Given the description of an element on the screen output the (x, y) to click on. 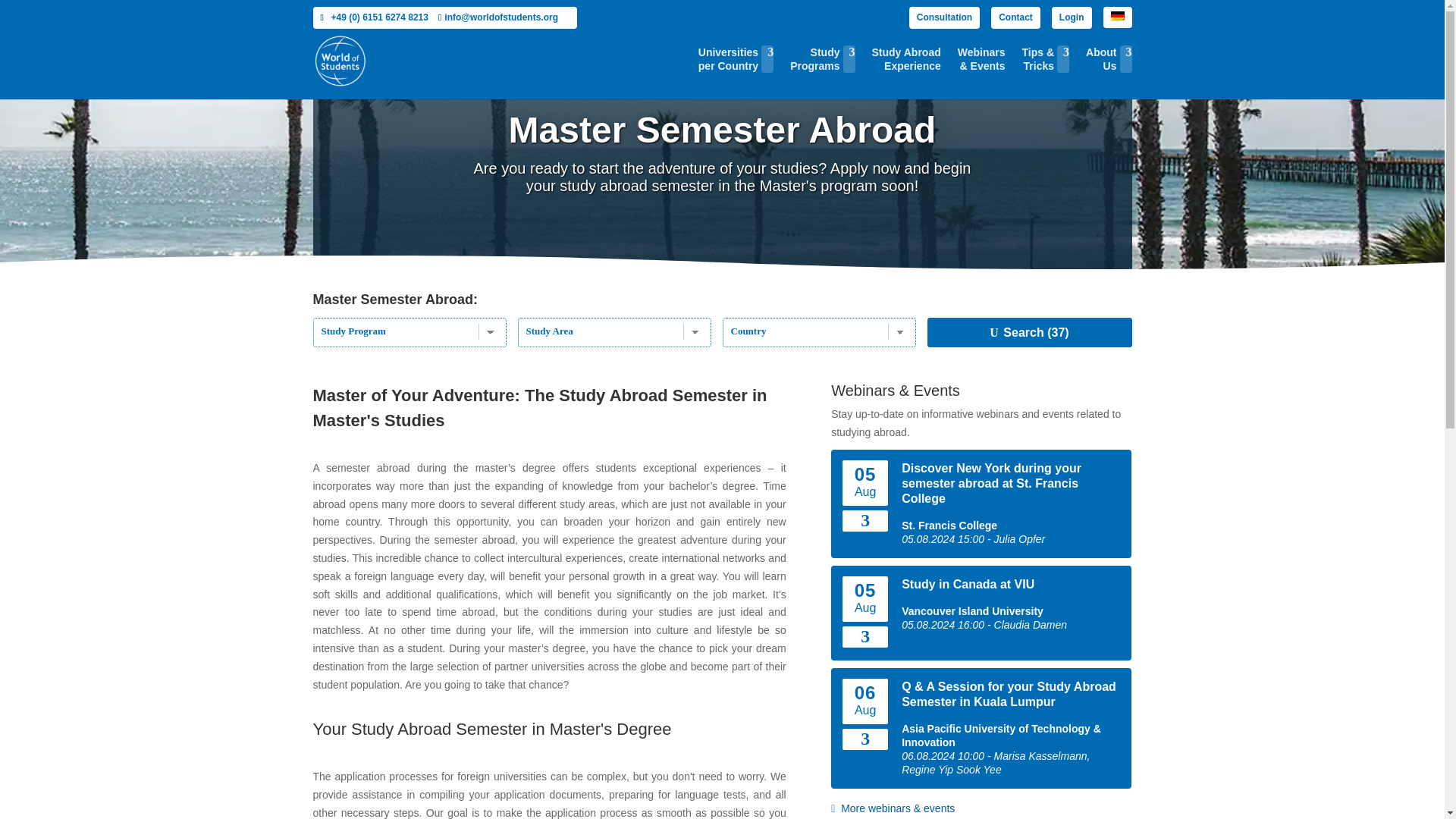
Contact (822, 72)
Login (735, 72)
Consultation (1016, 17)
